Given the description of an element on the screen output the (x, y) to click on. 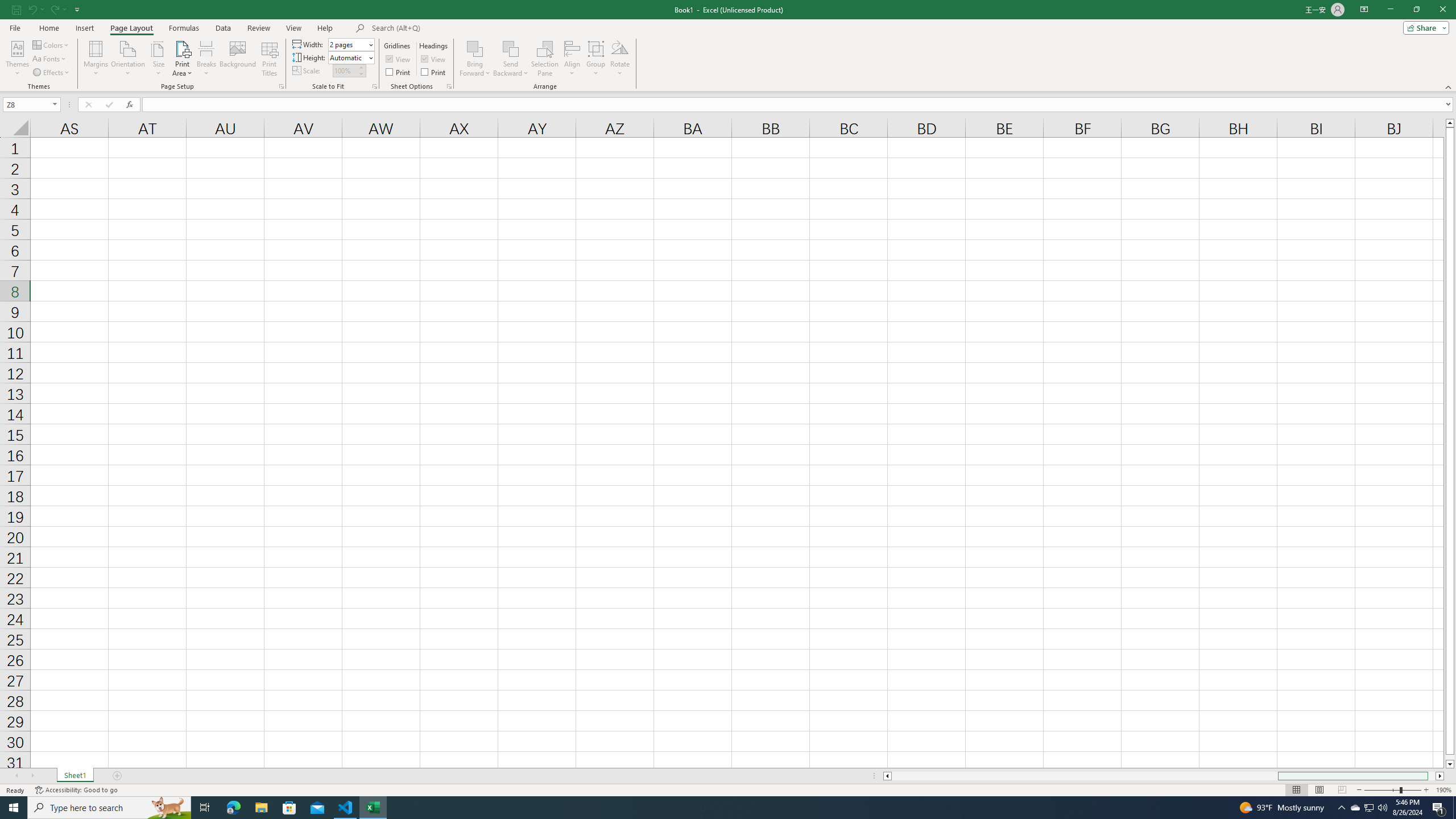
Close (1442, 9)
Page Setup (374, 85)
Width (350, 44)
Review (258, 28)
Share (1423, 27)
Class: NetUIScrollBar (1163, 775)
Colors (51, 44)
Print Titles (269, 58)
Page down (1449, 757)
Page Break Preview (1342, 790)
Class: MsoCommandBar (728, 45)
Quick Access Toolbar (46, 9)
Undo (35, 9)
Customize Quick Access Toolbar (77, 9)
Restore Down (1416, 9)
